Given the description of an element on the screen output the (x, y) to click on. 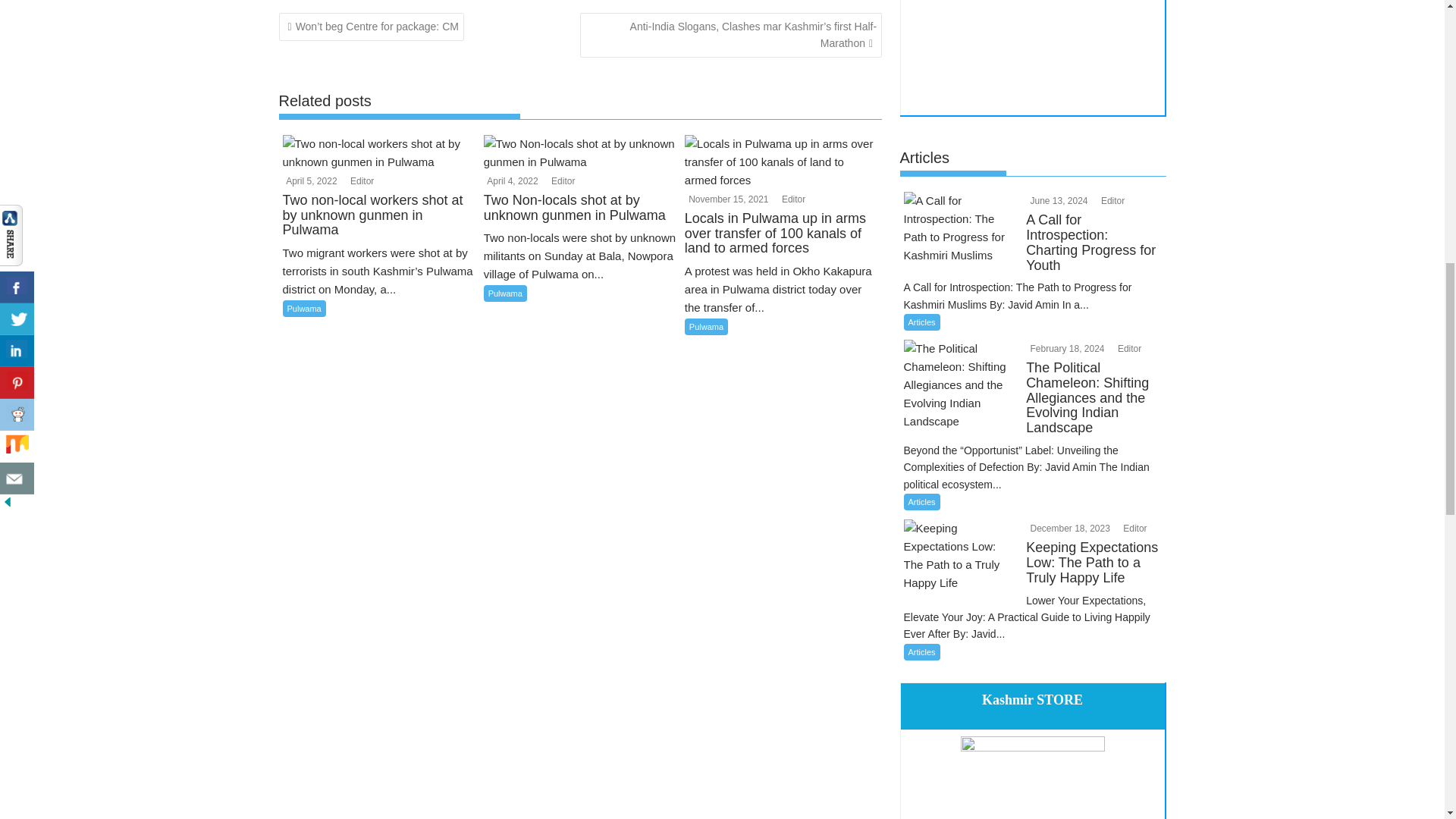
Editor (1111, 200)
Editor (561, 181)
Editor (791, 199)
Editor (360, 181)
